Given the description of an element on the screen output the (x, y) to click on. 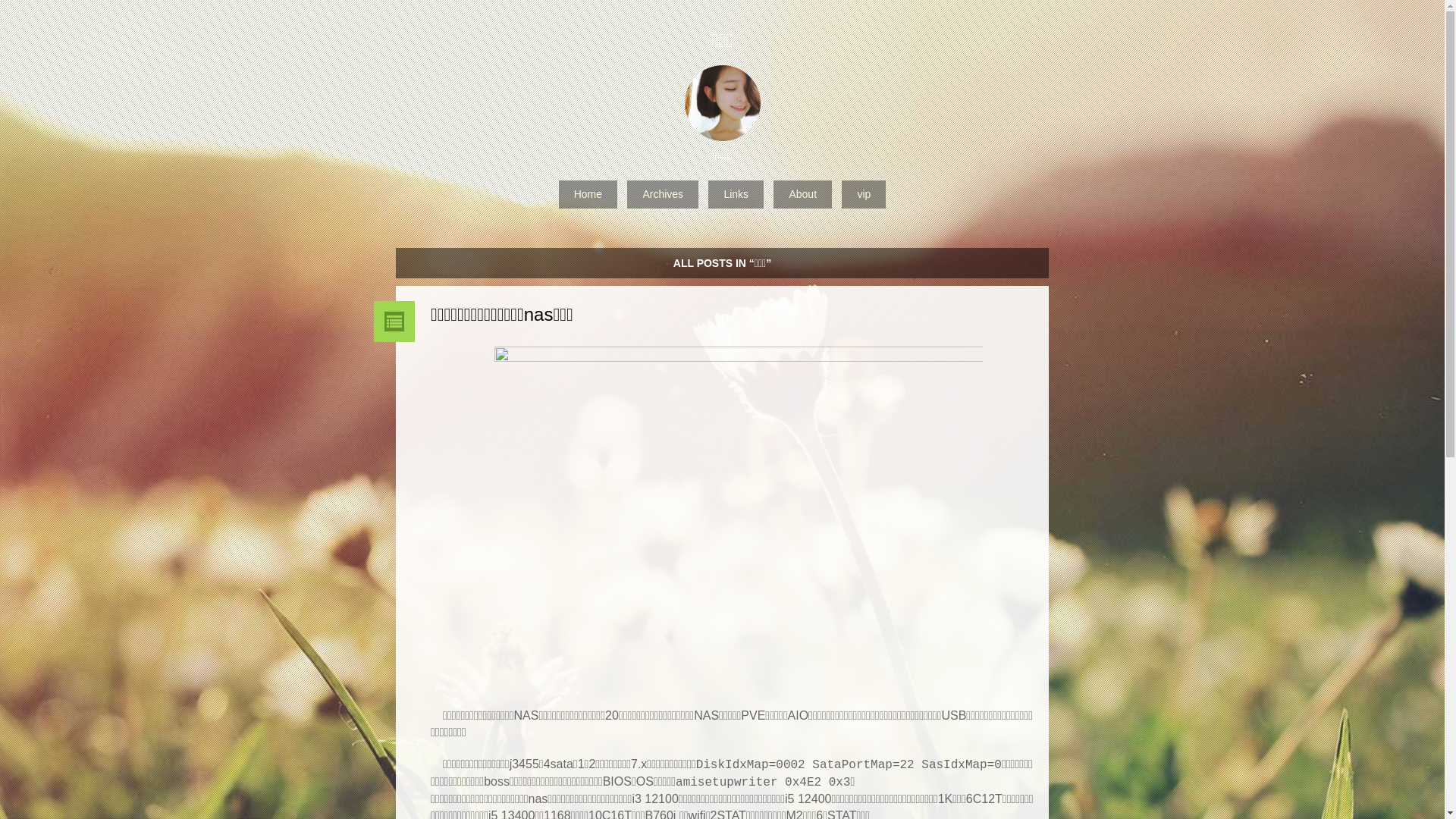
vip Element type: text (863, 194)
Links Element type: text (735, 194)
Home Element type: text (587, 194)
About Element type: text (802, 194)
Archives Element type: text (662, 194)
